Given the description of an element on the screen output the (x, y) to click on. 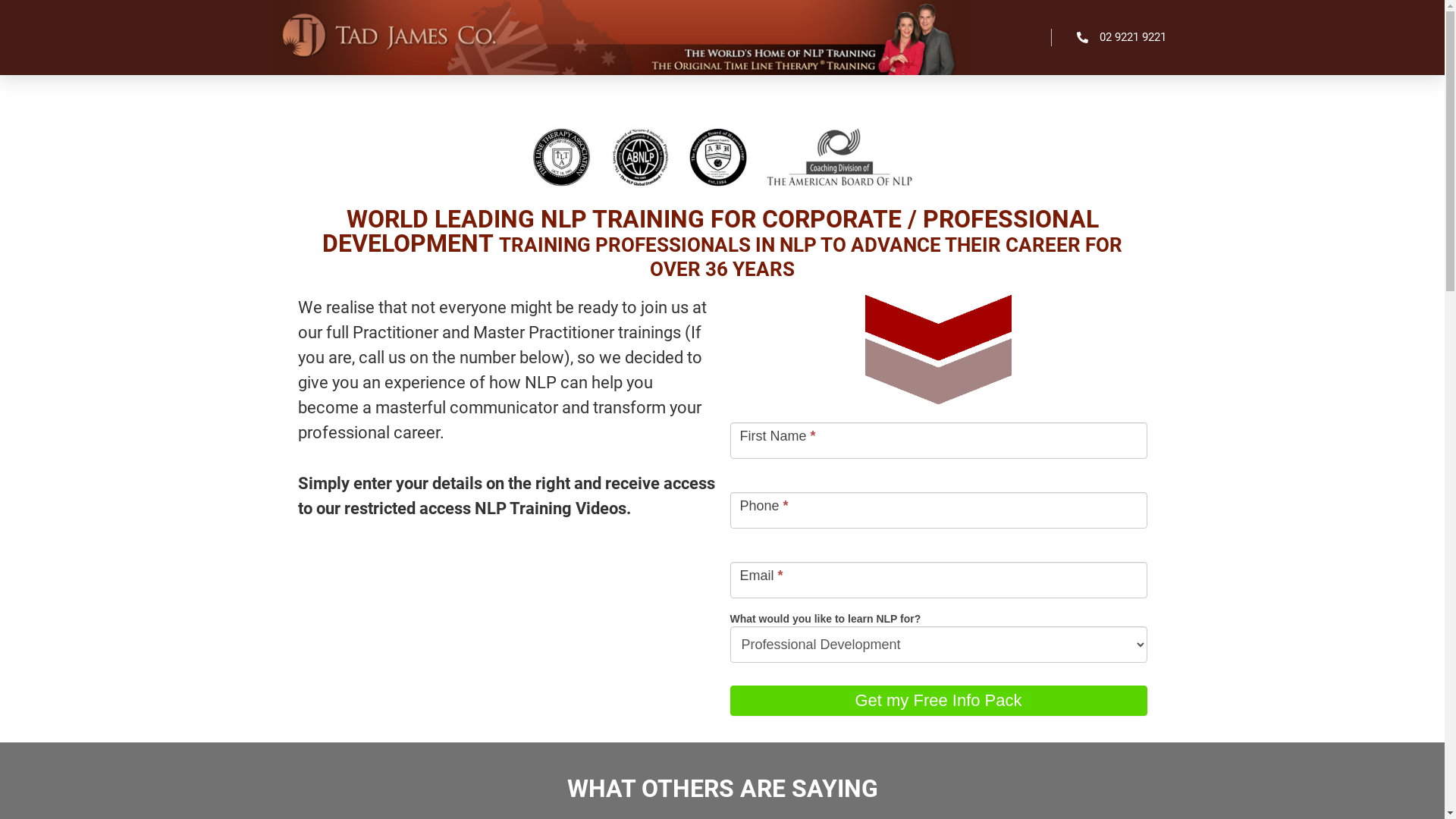
Get my Free Info Pack Element type: text (937, 700)
